Given the description of an element on the screen output the (x, y) to click on. 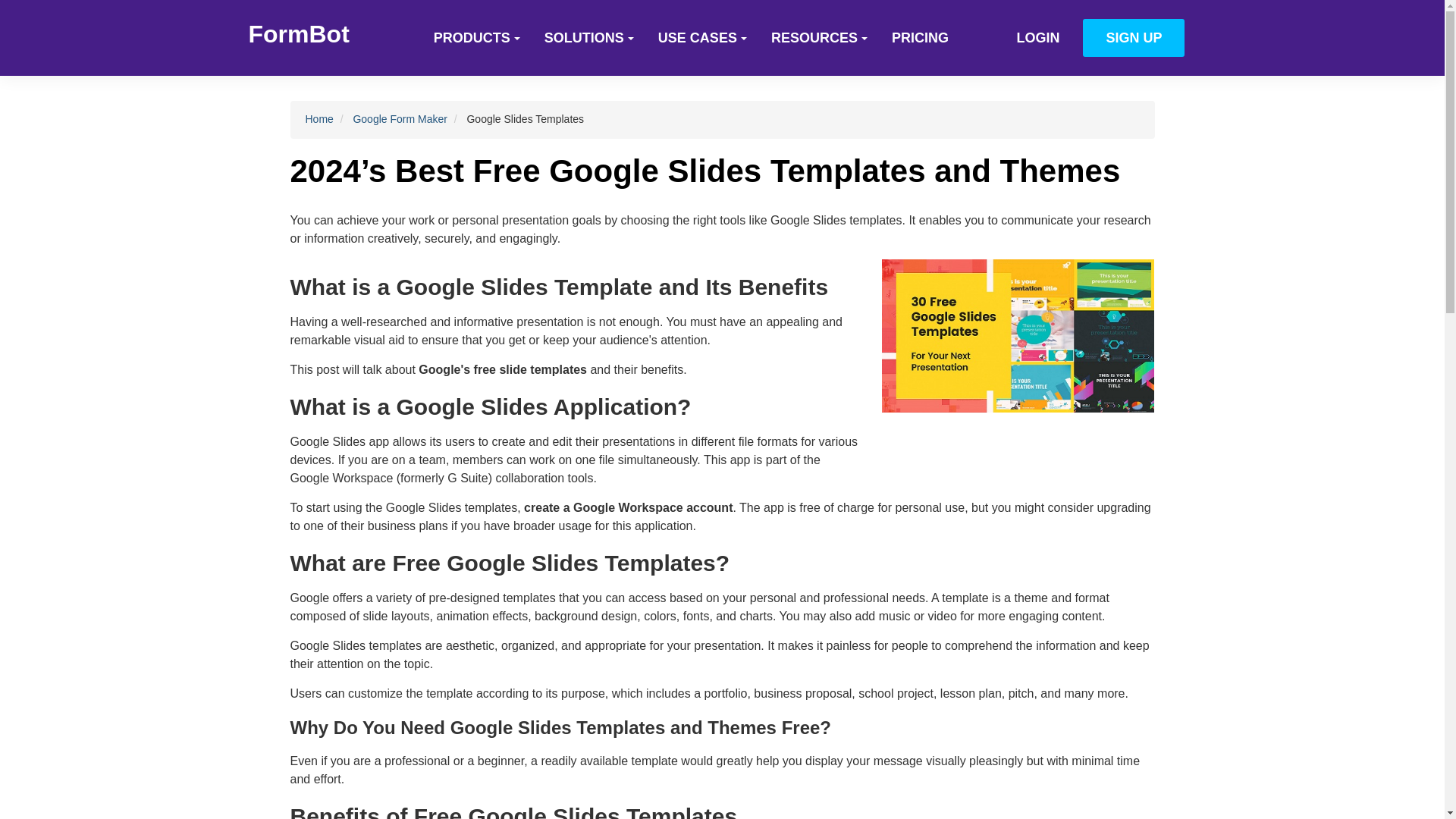
USE CASES (702, 37)
SOLUTIONS (589, 37)
PRICING (919, 37)
Google Form Maker (399, 119)
Home (318, 119)
LOGIN (1037, 37)
RESOURCES (818, 37)
SIGN UP (1134, 37)
PRODUCTS (477, 37)
FormBot (298, 33)
